Given the description of an element on the screen output the (x, y) to click on. 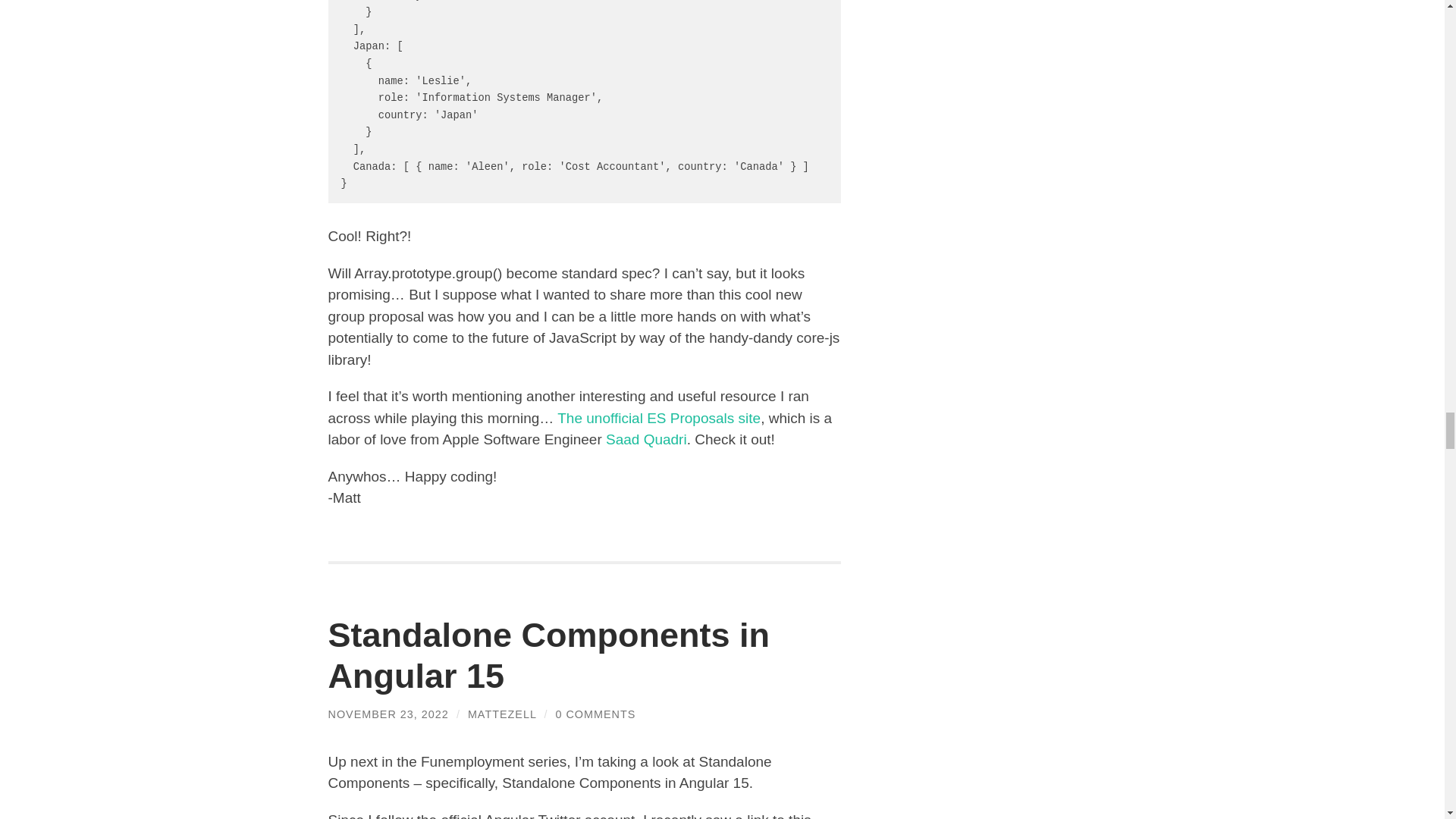
Saad Quadri (646, 439)
The unofficial ES Proposals site (658, 417)
Posts by mattezell (502, 714)
0 COMMENTS (594, 714)
MATTEZELL (502, 714)
Standalone Components in Angular 15 (548, 655)
NOVEMBER 23, 2022 (387, 714)
